Given the description of an element on the screen output the (x, y) to click on. 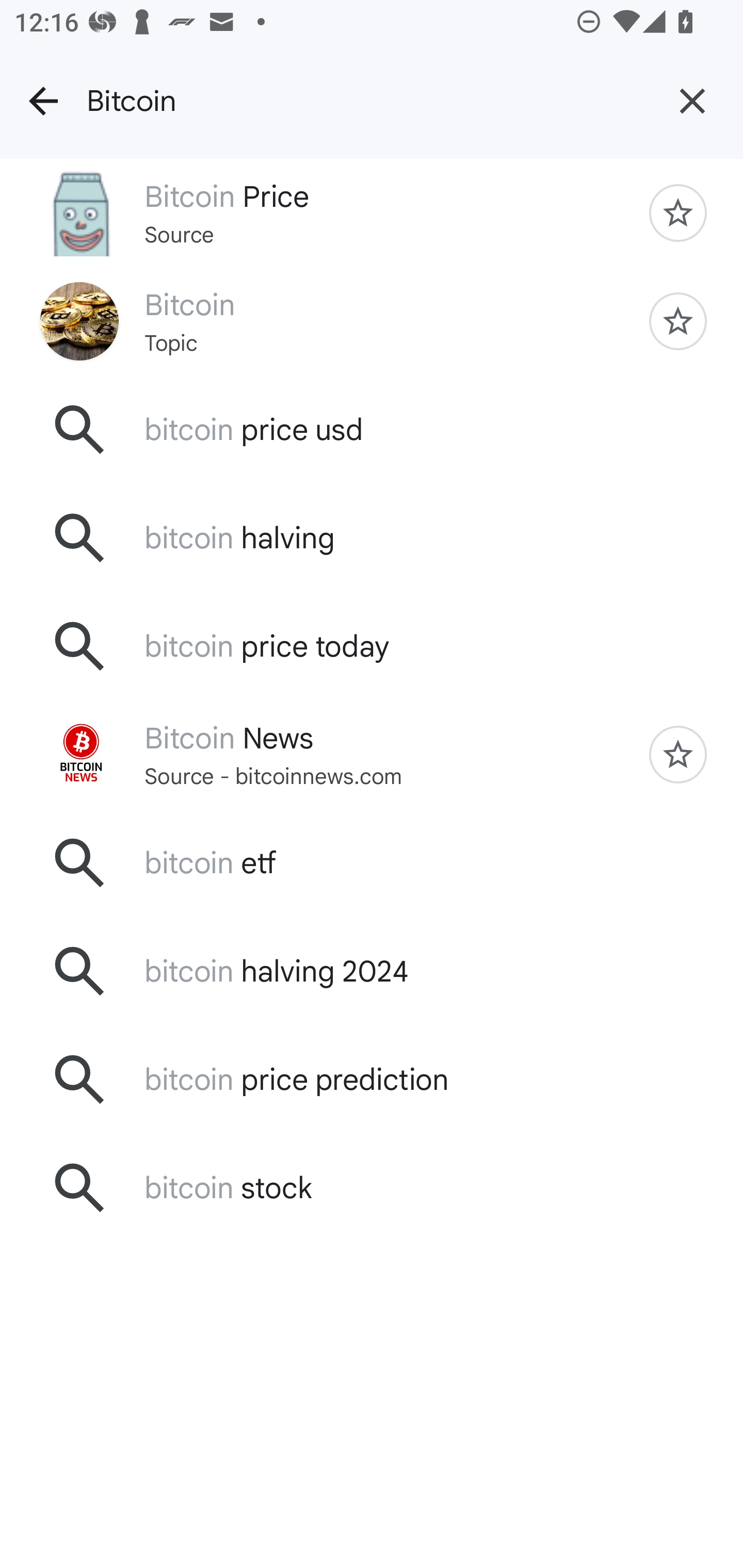
Back (43, 101)
Bitcoin (363, 101)
Clear text (692, 101)
Bitcoin Price Source Follow (371, 212)
Follow (677, 212)
Bitcoin Topic Follow (371, 320)
Follow (677, 321)
bitcoin price usd (371, 429)
bitcoin halving (371, 538)
bitcoin price today (371, 646)
Bitcoin News Source - bitcoinnews.com Follow (371, 754)
Follow (677, 754)
bitcoin etf (371, 863)
bitcoin halving 2024 (371, 971)
bitcoin price prediction (371, 1079)
bitcoin stock (371, 1187)
